Given the description of an element on the screen output the (x, y) to click on. 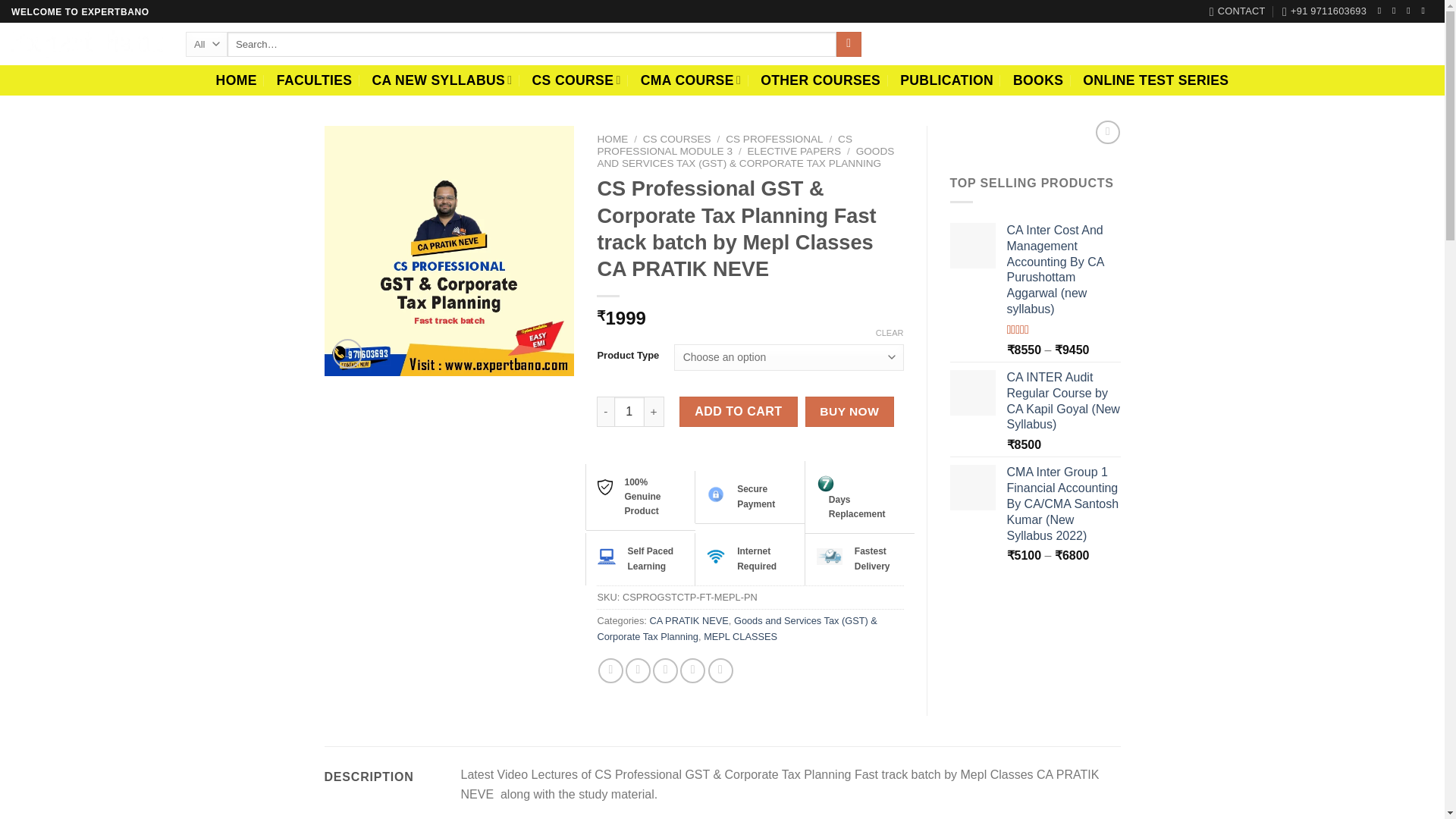
HOME (236, 80)
CS COURSE (576, 80)
CONTACT (1237, 11)
Zoom (347, 353)
CA NEW SYLLABUS (441, 80)
1 (629, 411)
Cart (1398, 43)
Search (848, 44)
FACULTIES (314, 80)
Expert Bano - Expert Bano (87, 43)
